Given the description of an element on the screen output the (x, y) to click on. 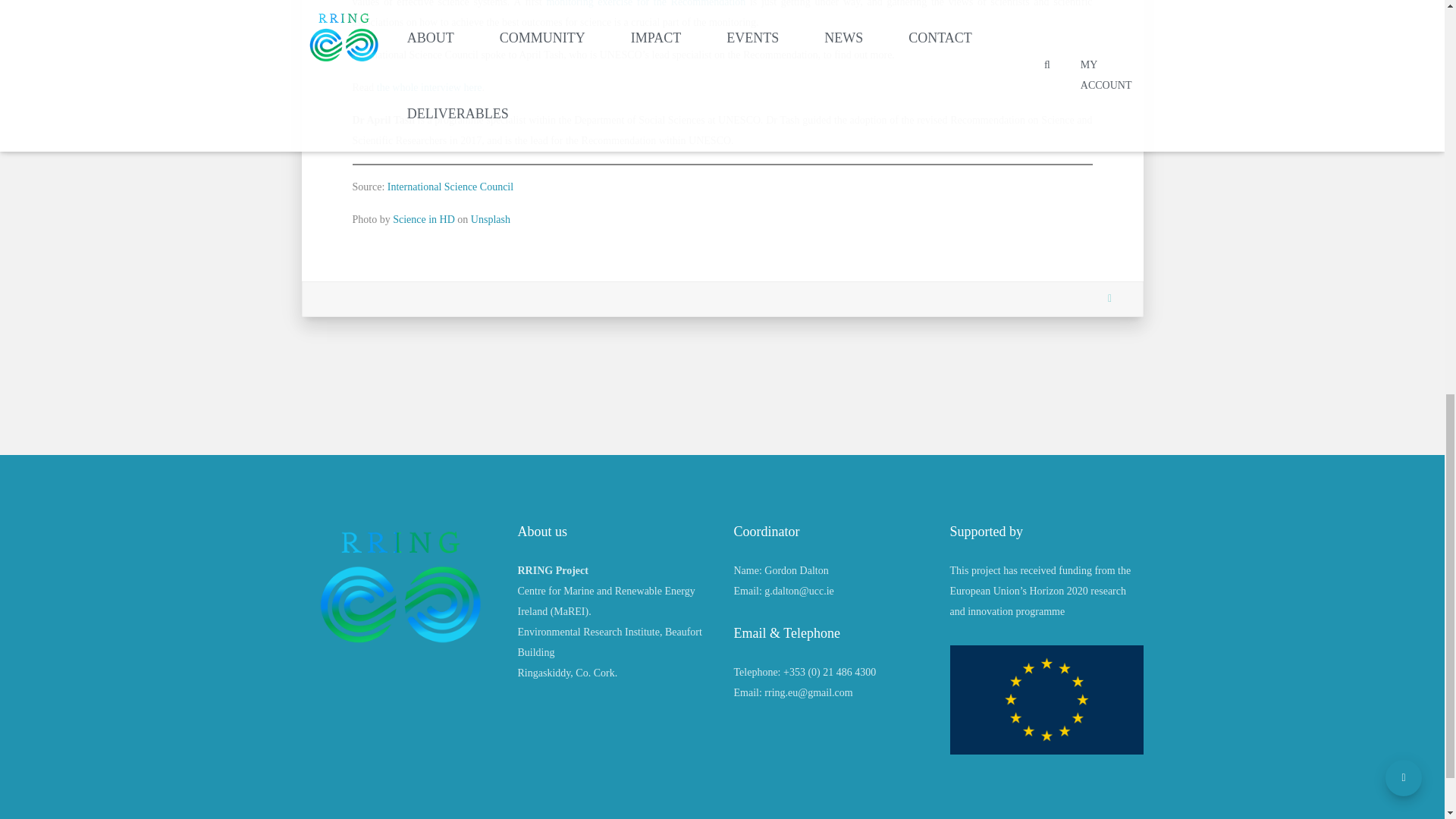
International Science Council (448, 186)
Science in HD (423, 219)
monitoring exercise for the Recommendation (645, 3)
the whole interview here (429, 87)
Unsplash (490, 219)
